Given the description of an element on the screen output the (x, y) to click on. 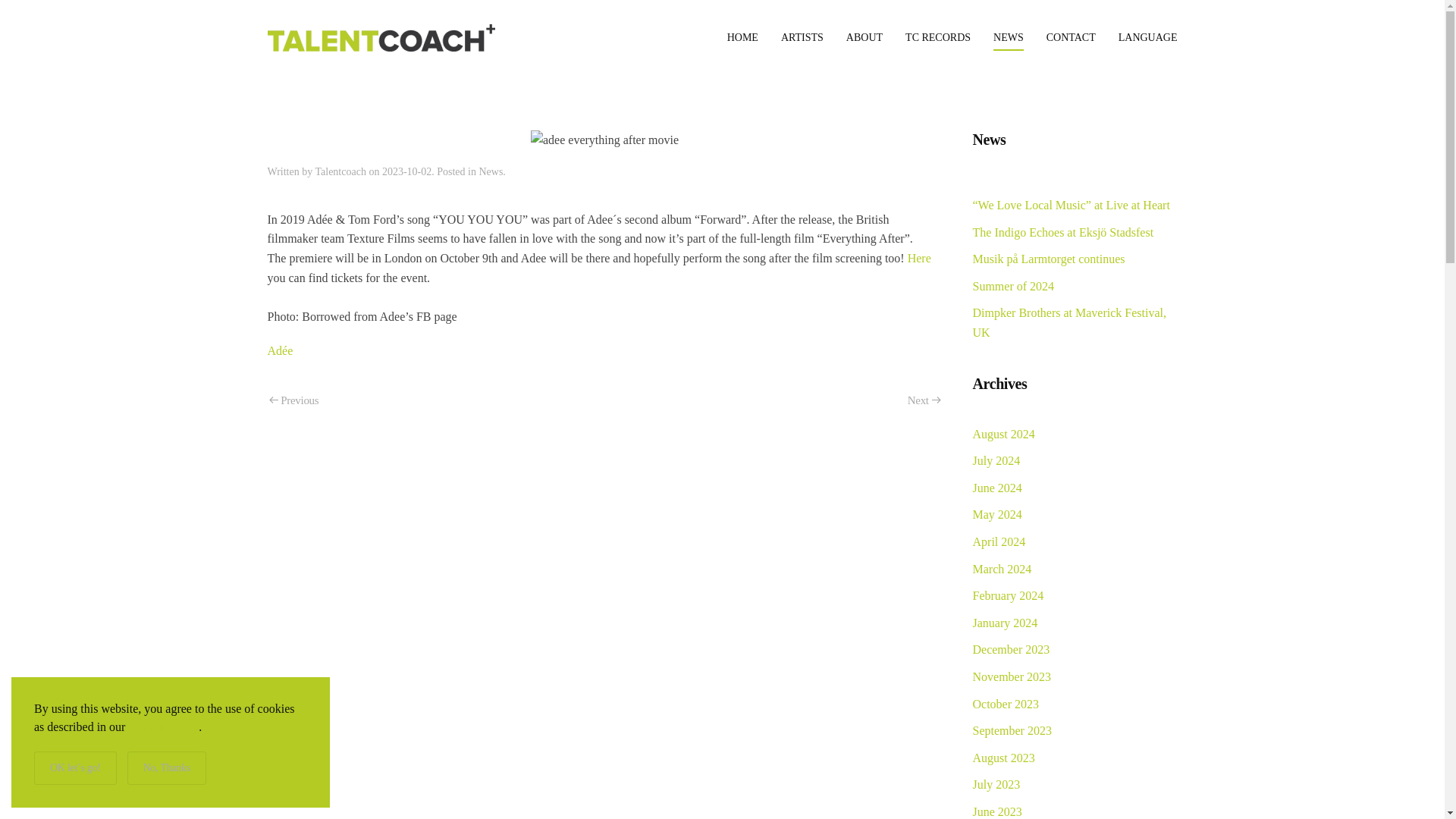
April 2024 (998, 541)
Summer of 2024 (1013, 286)
Here (919, 257)
TC RECORDS (938, 37)
August 2024 (1002, 433)
May 2024 (997, 513)
January 2024 (1004, 622)
LANGUAGE (1147, 37)
Talentcoach (339, 171)
Dimpker Brothers at Maverick Festival, UK (1069, 322)
